Given the description of an element on the screen output the (x, y) to click on. 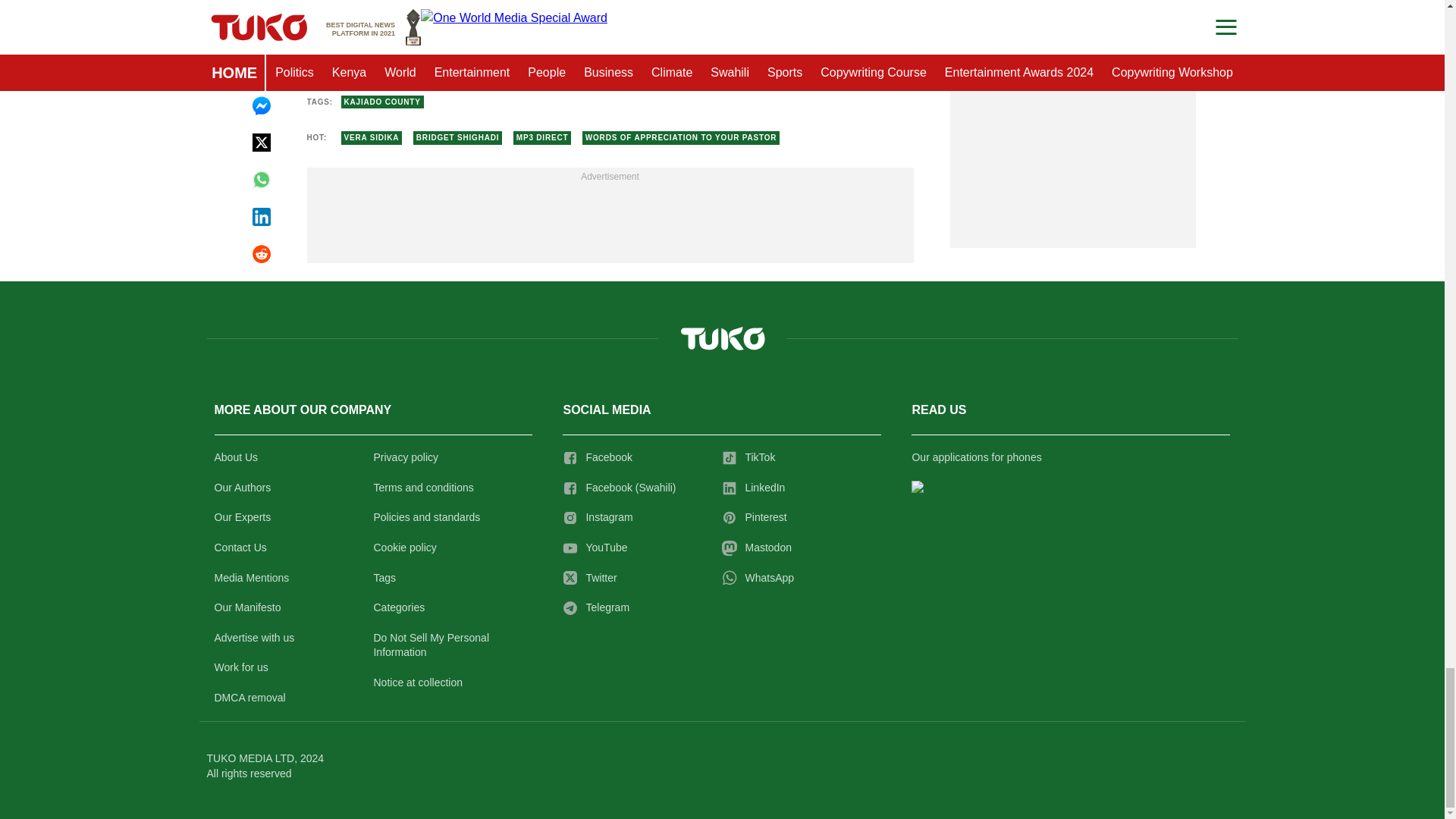
Author page (453, 52)
Author page (765, 52)
